Given the description of an element on the screen output the (x, y) to click on. 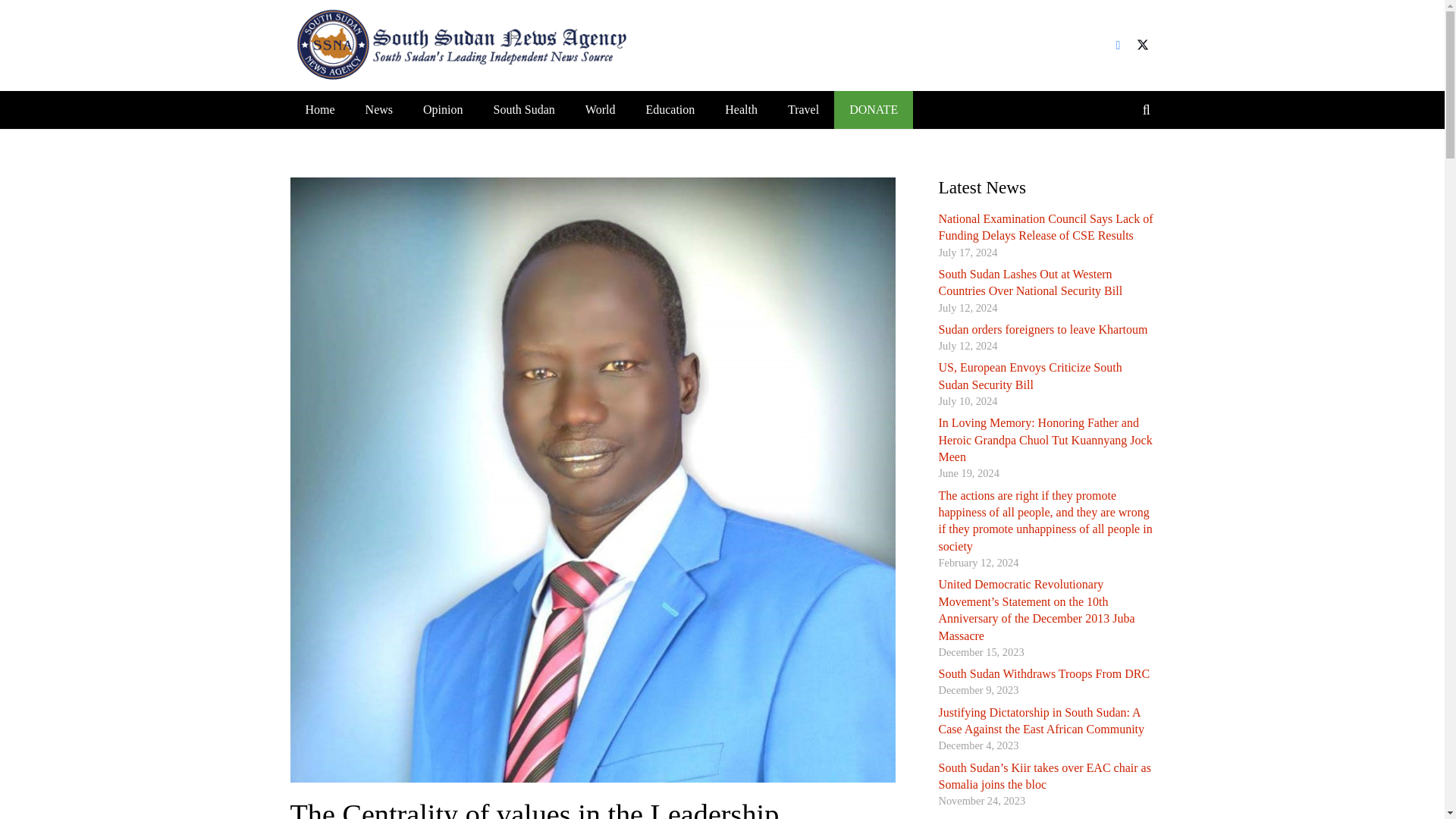
Sudan orders foreigners to leave Khartoum (1043, 328)
Twitter (1141, 45)
DONATE (873, 109)
Education (670, 109)
US, European Envoys Criticize South Sudan Security Bill (1030, 375)
World (600, 109)
Health (741, 109)
Facebook (1117, 45)
Travel (803, 109)
Opinion (442, 109)
